Given the description of an element on the screen output the (x, y) to click on. 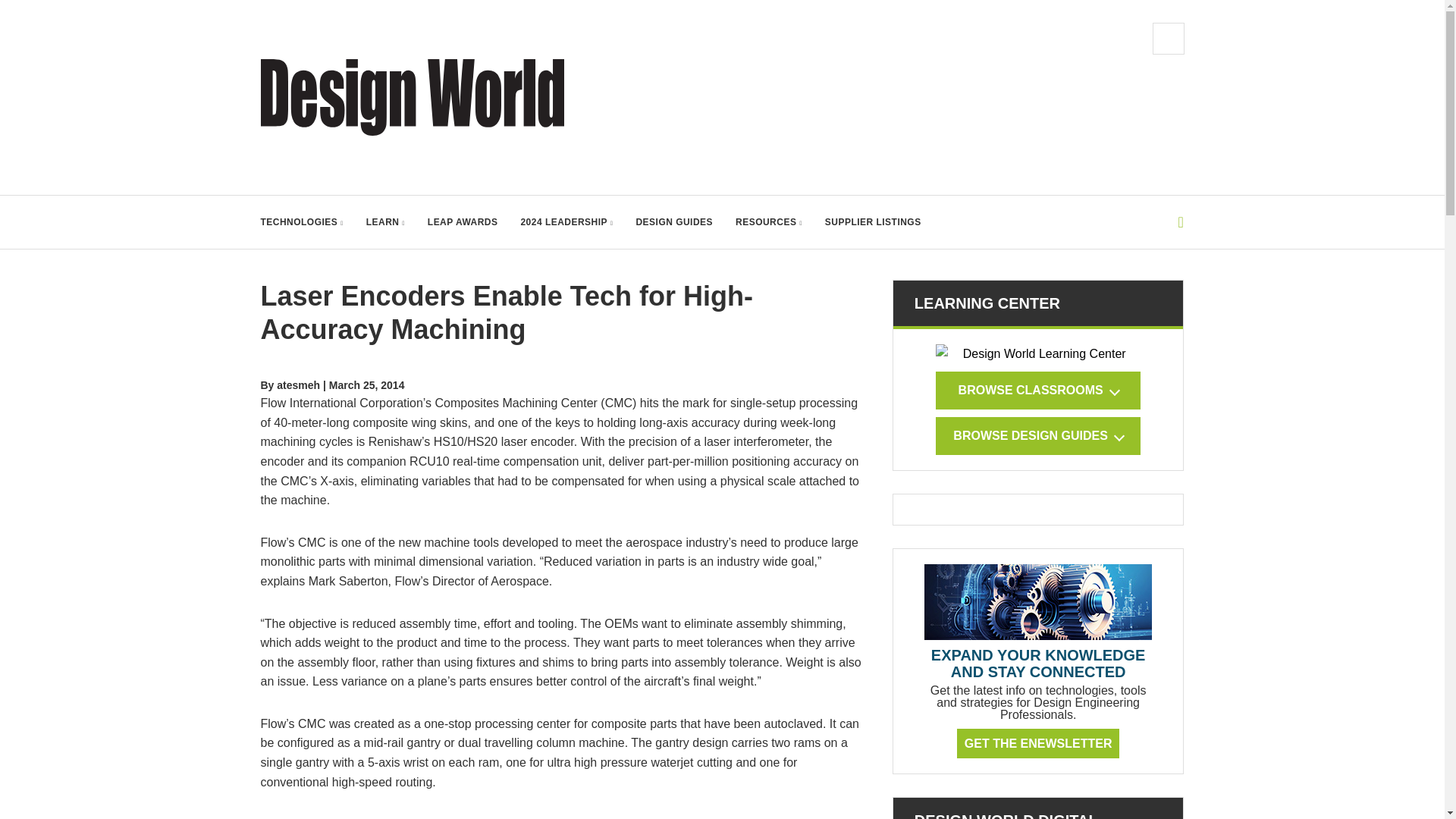
TECHNOLOGIES (301, 221)
DESIGN GUIDES (673, 221)
LEAP AWARDS (462, 221)
SUPPLIER LISTINGS (873, 221)
Design World (412, 96)
RESOURCES (768, 221)
2024 LEADERSHIP (565, 221)
